Given the description of an element on the screen output the (x, y) to click on. 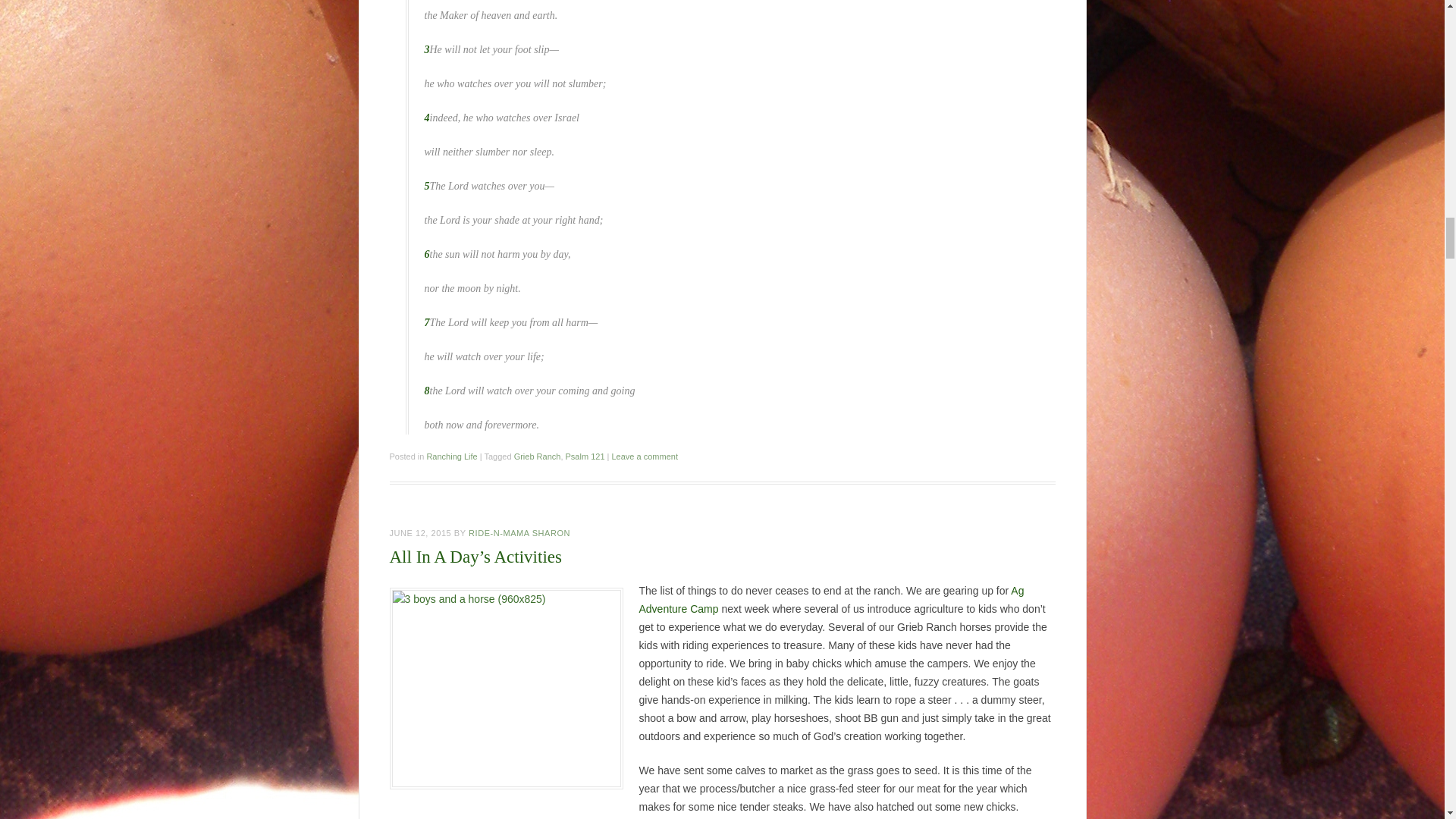
Ranching Life (451, 456)
Leave a comment (644, 456)
Psalm 121 (585, 456)
RIDE-N-MAMA SHARON (519, 532)
Ag Adventure Camp (831, 599)
JUNE 12, 2015 (420, 532)
Grieb Ranch (536, 456)
View all posts by ride-n-mama Sharon (519, 532)
10:53 am (420, 532)
